Given the description of an element on the screen output the (x, y) to click on. 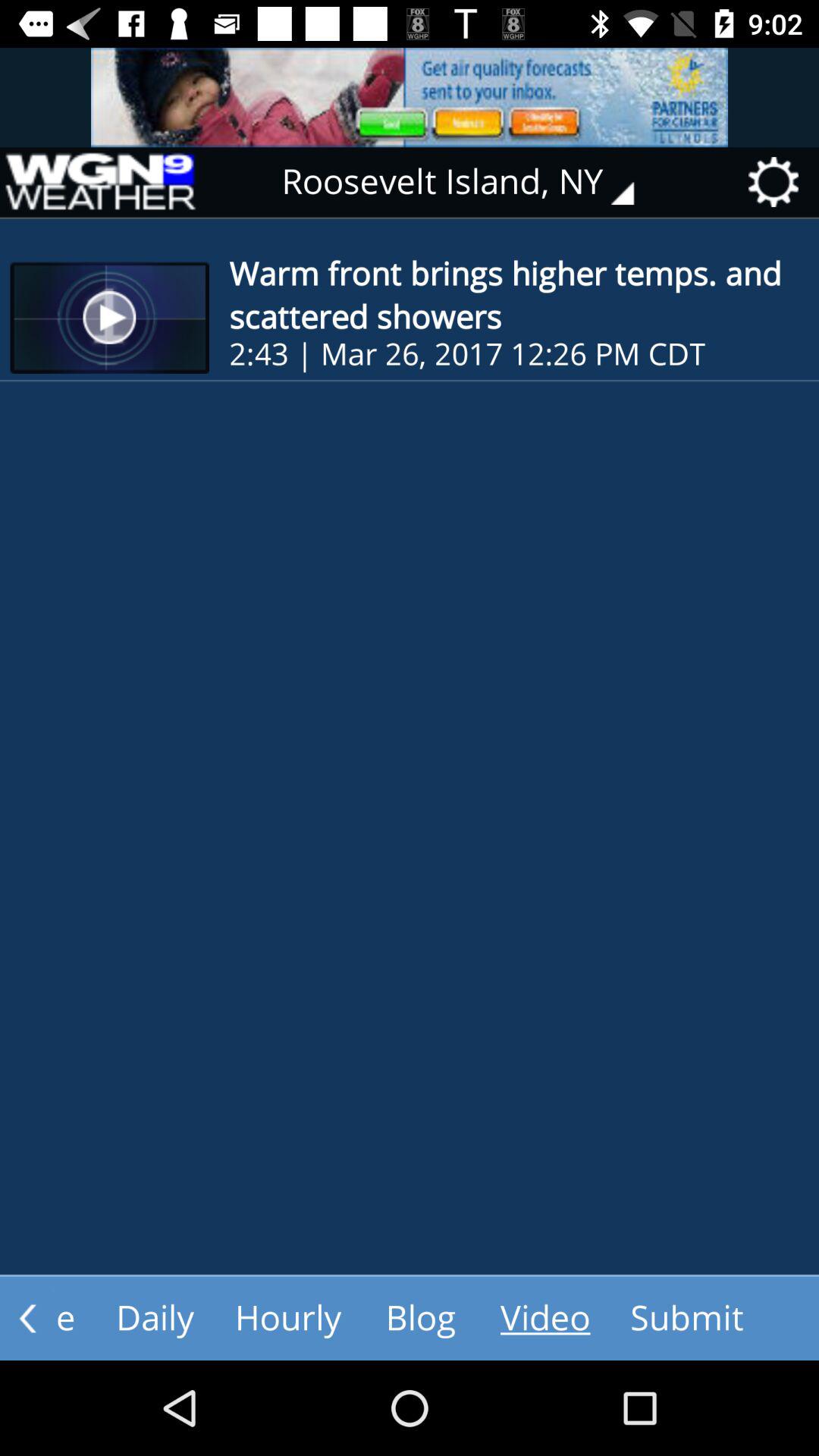
go previous (27, 1318)
